Given the description of an element on the screen output the (x, y) to click on. 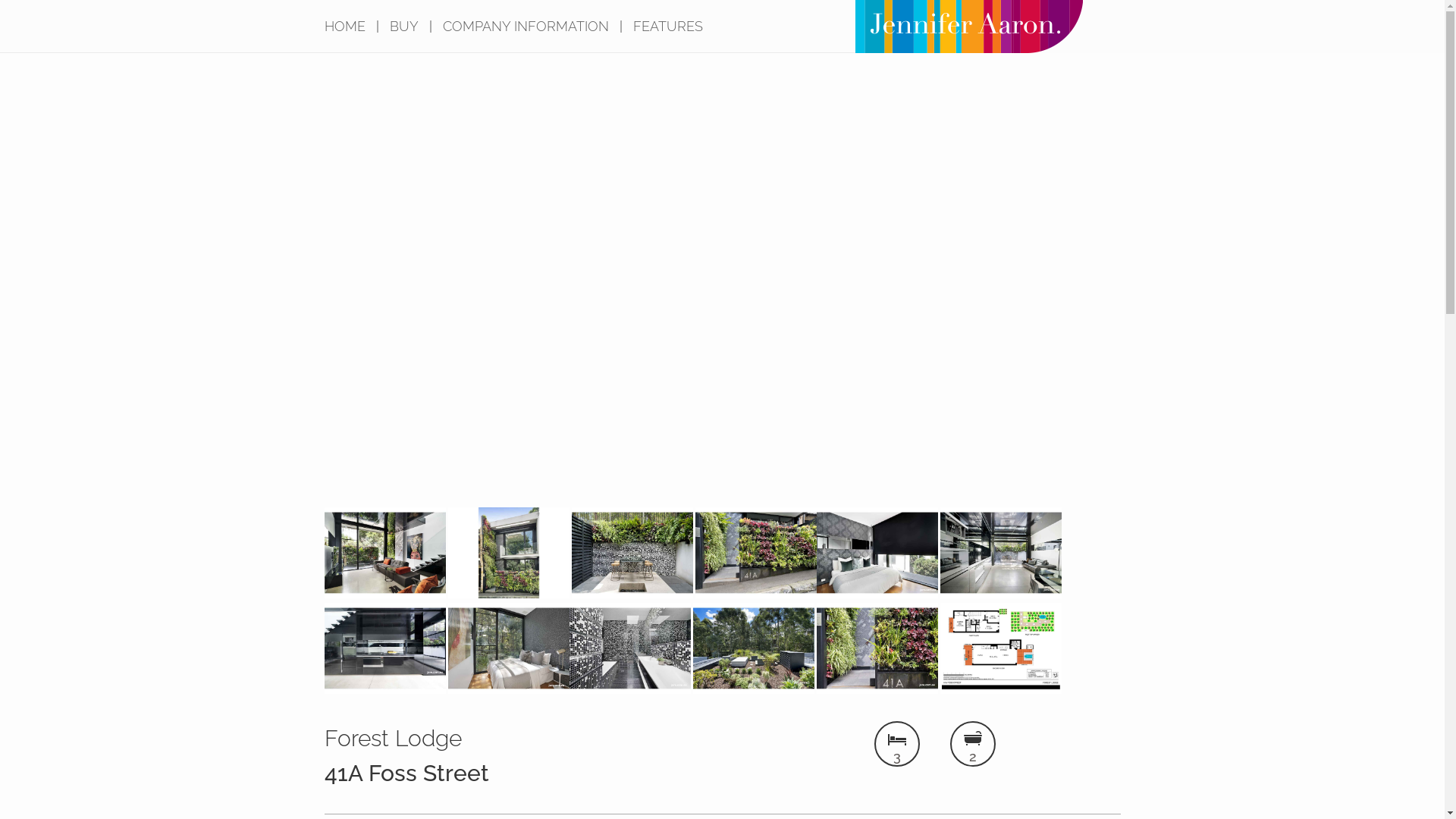
Bedrooms Element type: hover (895, 737)
HOME Element type: text (344, 26)
COMPANY INFORMATION Element type: text (525, 26)
FEATURES Element type: text (667, 26)
BUY Element type: text (403, 26)
Bathrooms Element type: hover (971, 737)
